Given the description of an element on the screen output the (x, y) to click on. 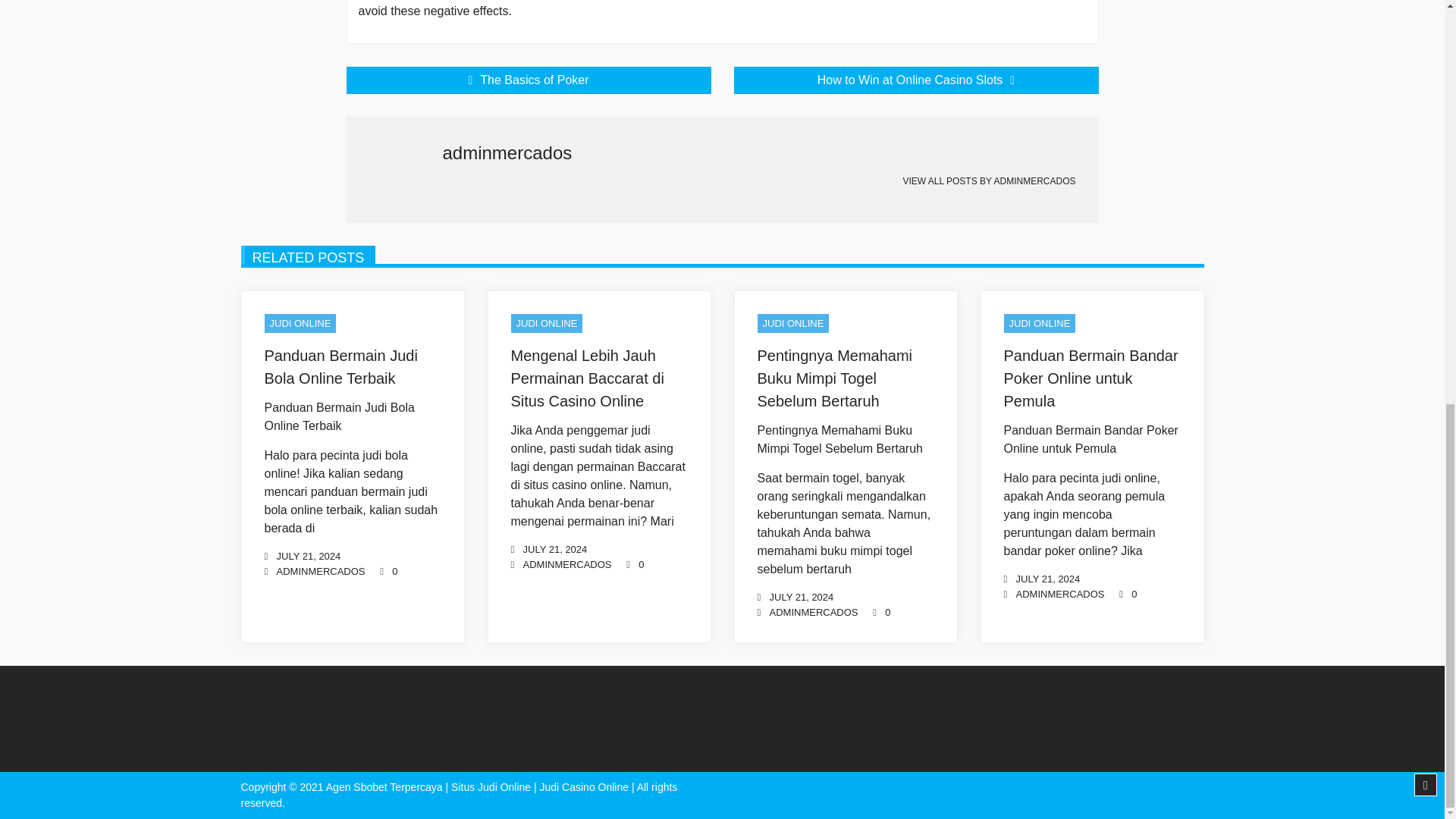
JUDI ONLINE (792, 322)
JULY 21, 2024 (308, 555)
ADMINMERCADOS (320, 570)
How to Win at Online Casino Slots (916, 79)
ADMINMERCADOS (1060, 593)
The Basics of Poker (528, 79)
Panduan Bermain Bandar Poker Online untuk Pemula (1090, 378)
JULY 21, 2024 (1048, 578)
ADMINMERCADOS (566, 564)
JULY 21, 2024 (800, 596)
adminmercados (1060, 593)
Pentingnya Memahami Buku Mimpi Togel Sebelum Bertaruh (834, 378)
ADMINMERCADOS (812, 611)
JUDI ONLINE (547, 322)
adminmercados (812, 611)
